Given the description of an element on the screen output the (x, y) to click on. 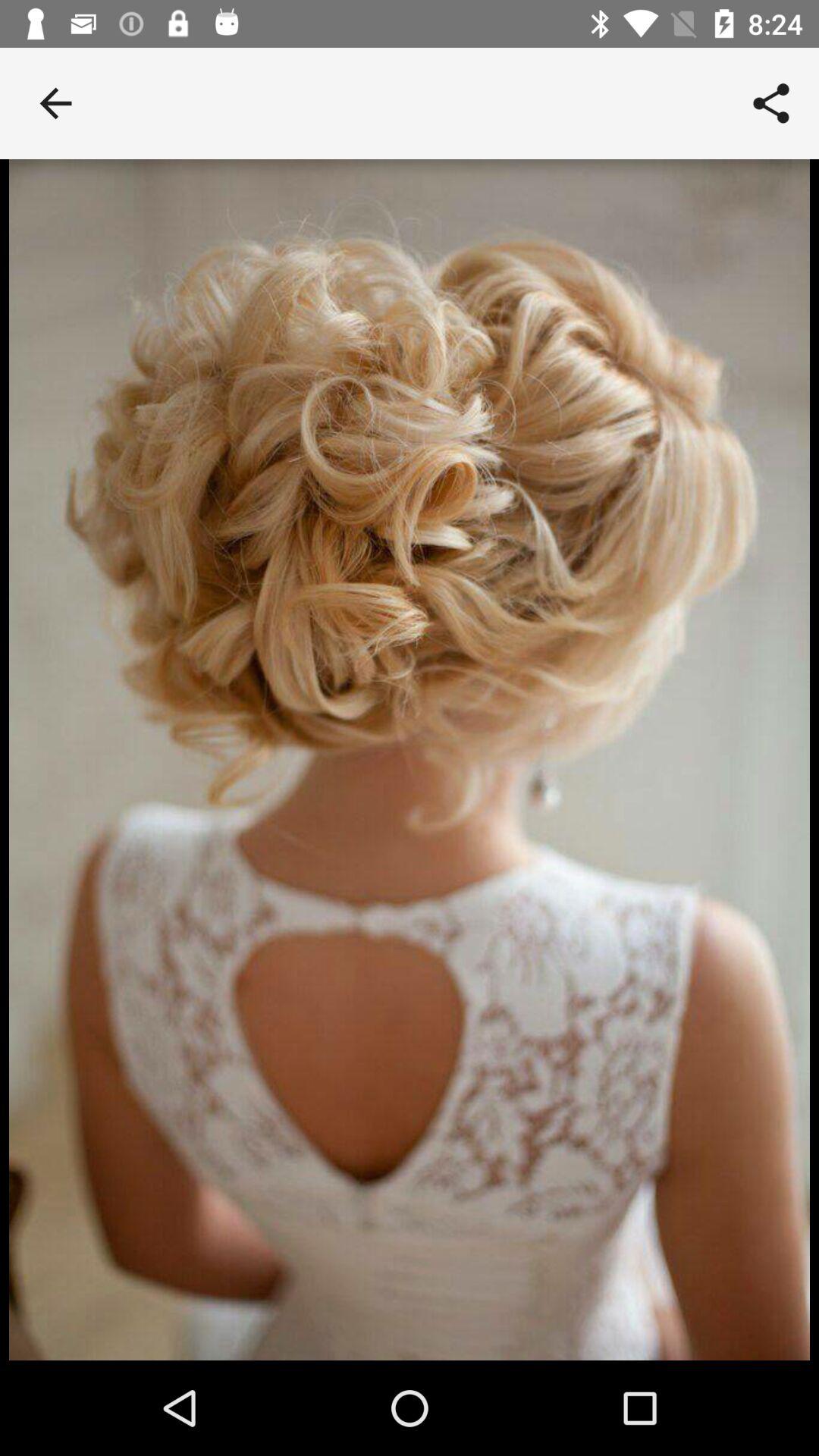
launch the item at the top right corner (771, 103)
